Given the description of an element on the screen output the (x, y) to click on. 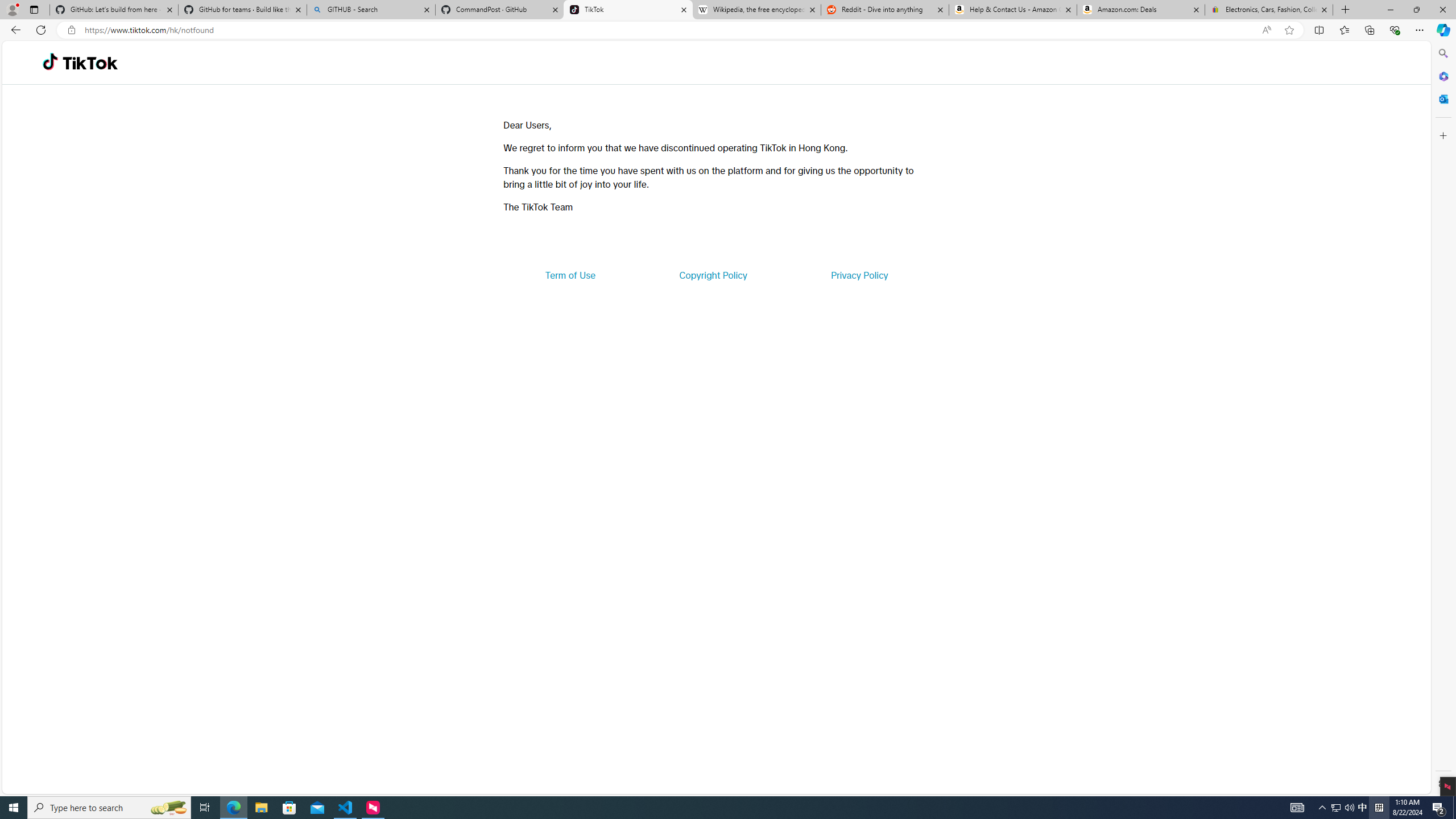
TikTok (89, 62)
Electronics, Cars, Fashion, Collectibles & More | eBay (1268, 9)
Address and search bar (669, 29)
Help & Contact Us - Amazon Customer Service (1012, 9)
Close Outlook pane (1442, 98)
